Given the description of an element on the screen output the (x, y) to click on. 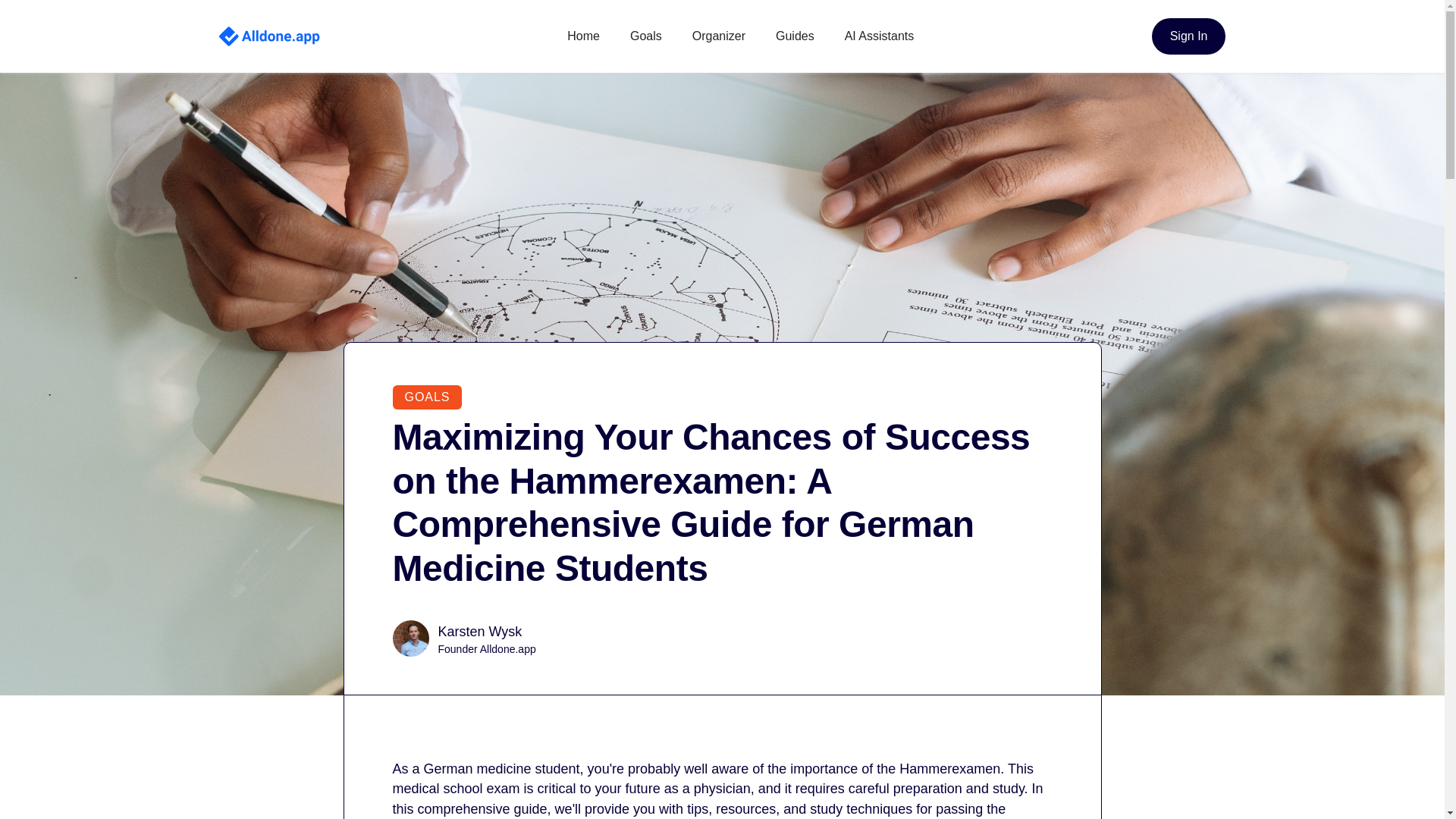
Organizer (714, 36)
Guides (791, 36)
Home (579, 36)
AI Assistants (875, 36)
Sign In (1188, 36)
Goals (641, 36)
